Given the description of an element on the screen output the (x, y) to click on. 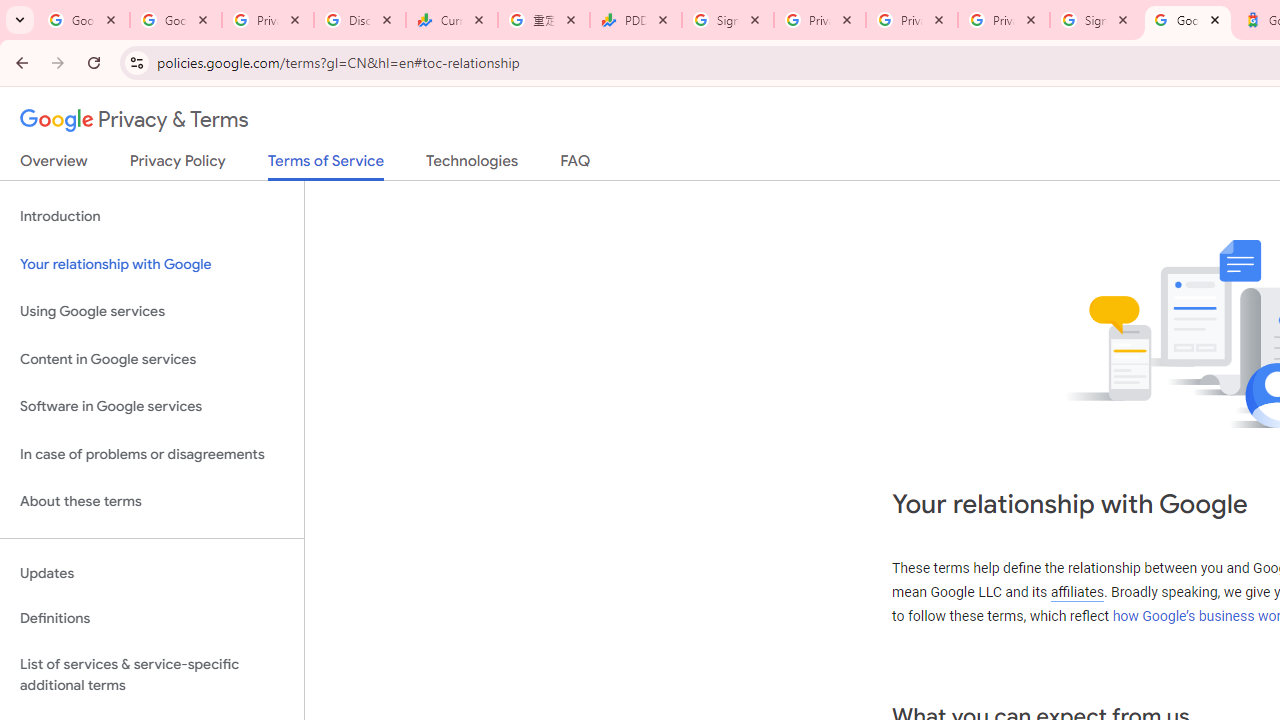
Sign in - Google Accounts (728, 20)
PDD Holdings Inc - ADR (PDD) Price & News - Google Finance (636, 20)
Currencies - Google Finance (451, 20)
Software in Google services (152, 407)
affiliates (1076, 592)
Your relationship with Google (152, 263)
